Given the description of an element on the screen output the (x, y) to click on. 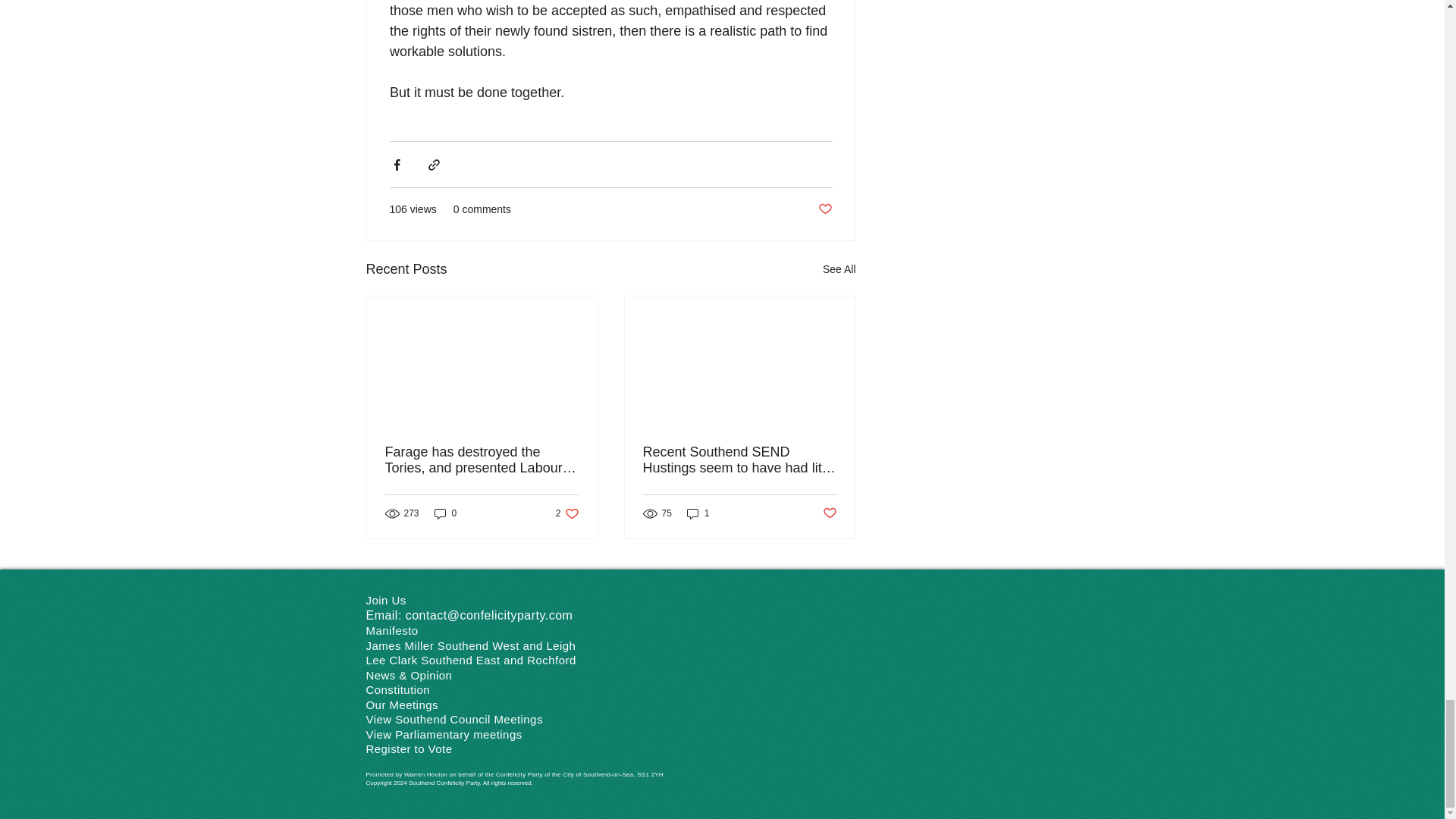
Join Us (385, 599)
0 (445, 513)
See All (839, 269)
1 (698, 513)
Post not marked as liked (828, 513)
James Miller Southend West and Leigh (470, 645)
Manifesto (567, 513)
Post not marked as liked (391, 630)
Lee Clark Southend East and Rochford (823, 209)
